Given the description of an element on the screen output the (x, y) to click on. 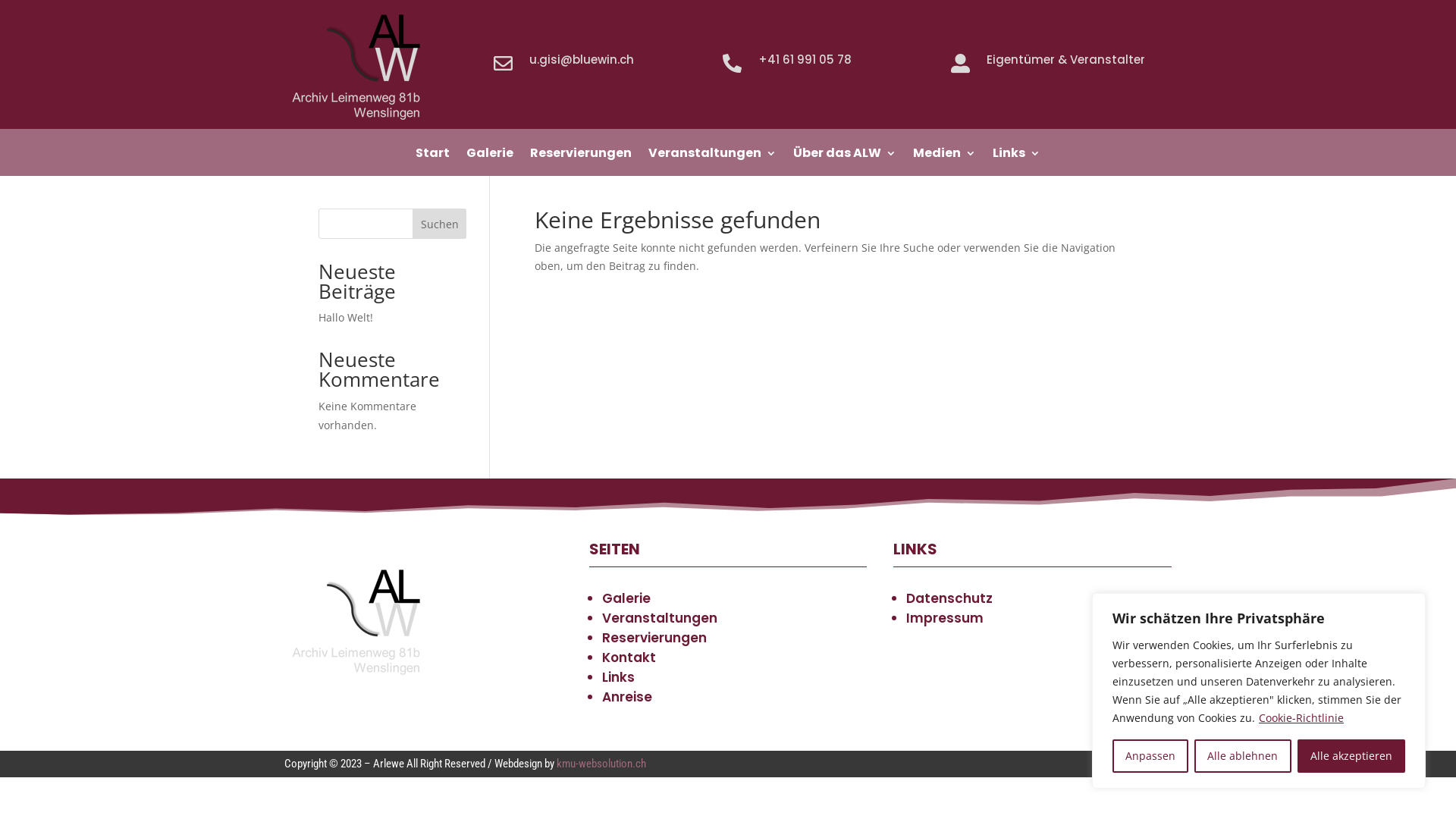
Veranstaltungen Element type: text (712, 155)
Galerie Element type: text (489, 155)
kmu-websolution.ch Element type: text (601, 763)
Cookie-Richtlinie Element type: text (1301, 717)
Reservierungen Element type: text (654, 637)
Anpassen Element type: text (1150, 755)
Anreise Element type: text (627, 696)
u.gisi@bluewin.ch Element type: text (581, 59)
Alle ablehnen Element type: text (1242, 755)
logo Element type: hover (360, 621)
Datenschutz Element type: text (949, 598)
Kontakt Element type: text (628, 657)
Veranstaltungen Element type: text (659, 617)
Links Element type: text (1016, 155)
Start Element type: text (432, 155)
Hallo Welt! Element type: text (345, 317)
Medien Element type: text (944, 155)
logo Element type: hover (360, 66)
Links Element type: text (618, 677)
Impressum Element type: text (944, 617)
Suchen Element type: text (439, 223)
Reservierungen Element type: text (580, 155)
Alle akzeptieren Element type: text (1351, 755)
Galerie Element type: text (626, 598)
